Given the description of an element on the screen output the (x, y) to click on. 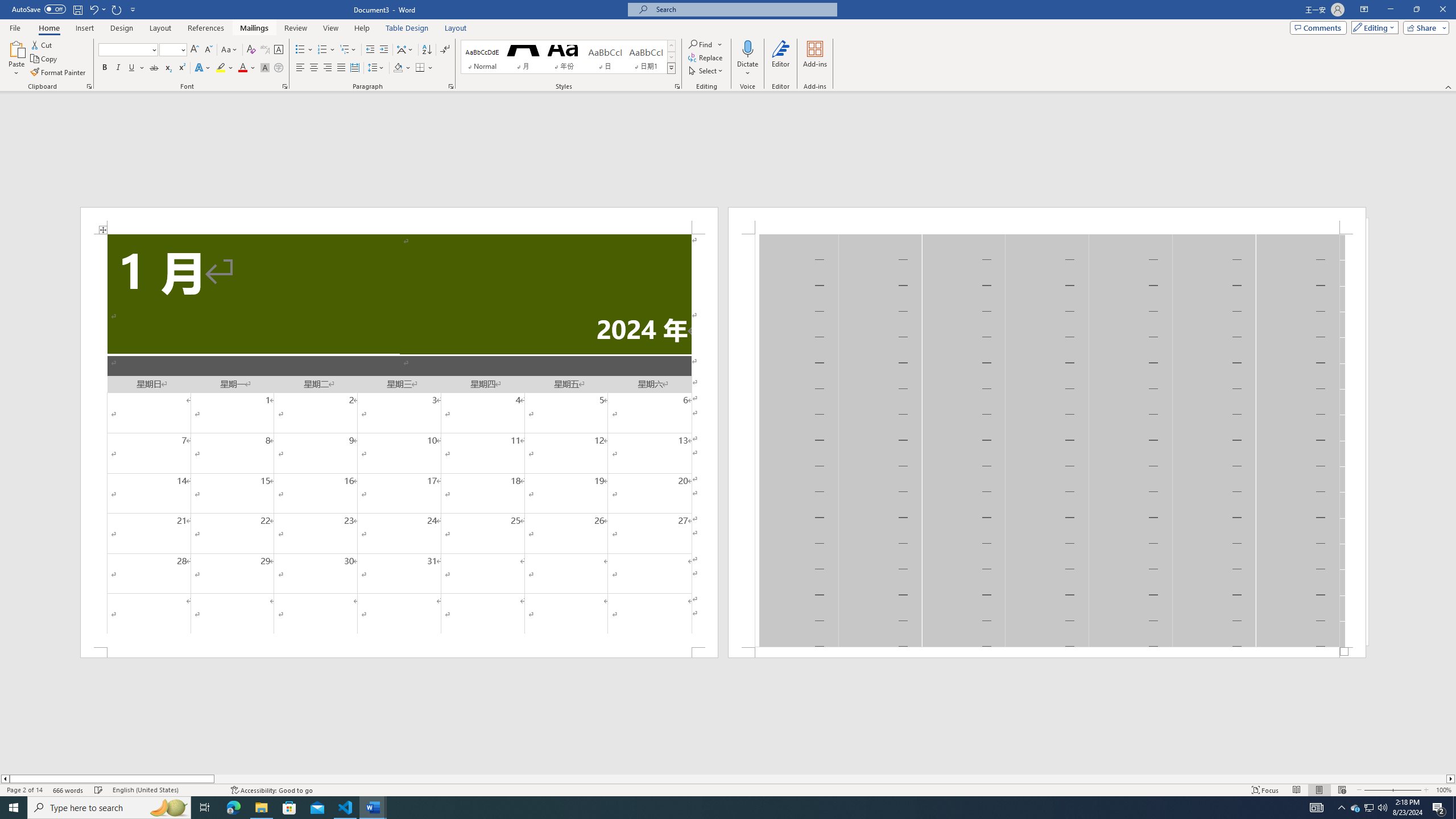
Undo Distribute Para (92, 9)
